Given the description of an element on the screen output the (x, y) to click on. 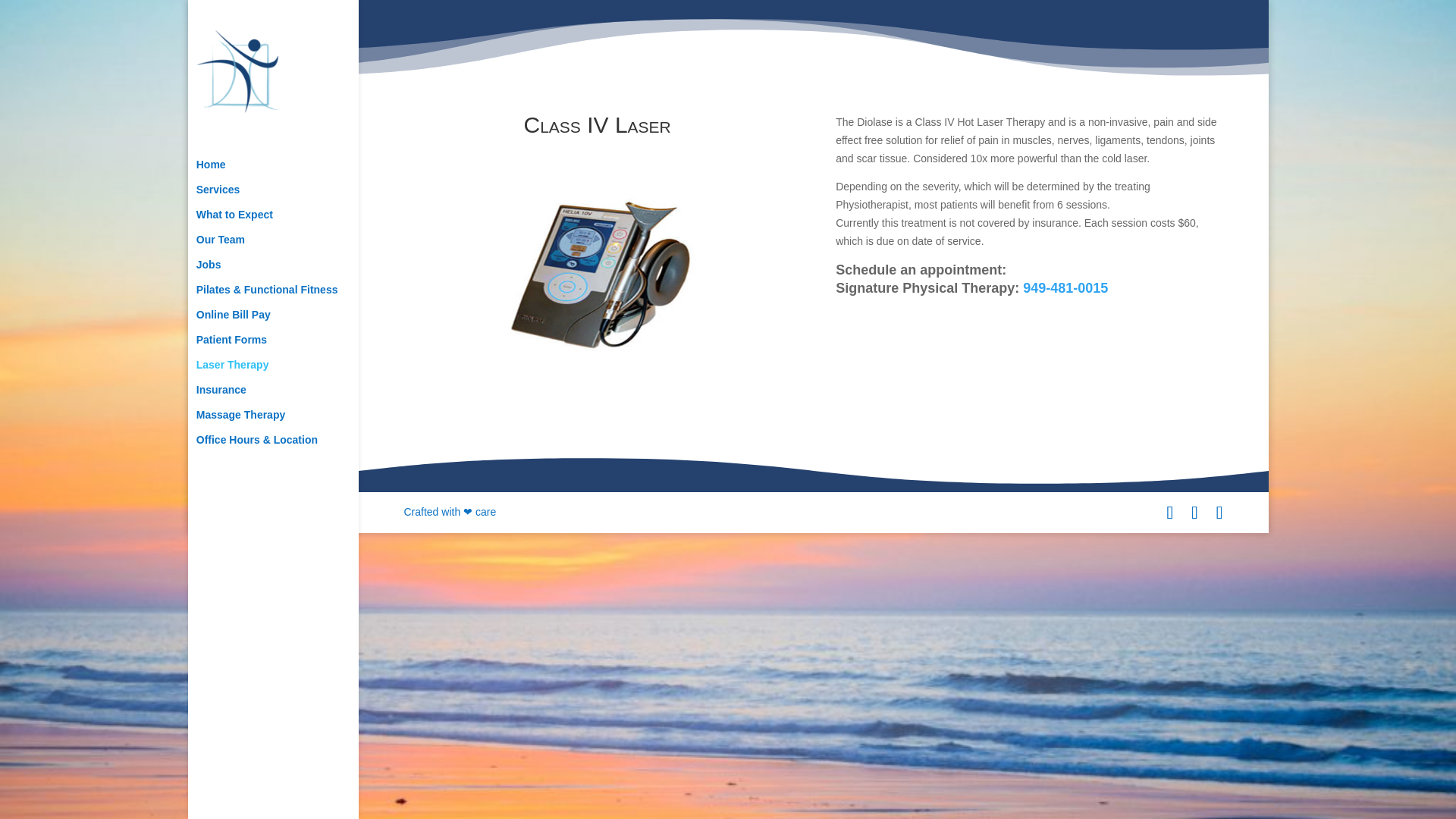
What to Expect (288, 221)
Patient Forms (288, 346)
Our Team (288, 246)
Laser Therapy (288, 371)
Online Bill Pay (288, 321)
949-481-0015 (1065, 287)
Insurance (288, 396)
Massage Therapy (288, 421)
Jobs (288, 271)
Services (288, 196)
